Given the description of an element on the screen output the (x, y) to click on. 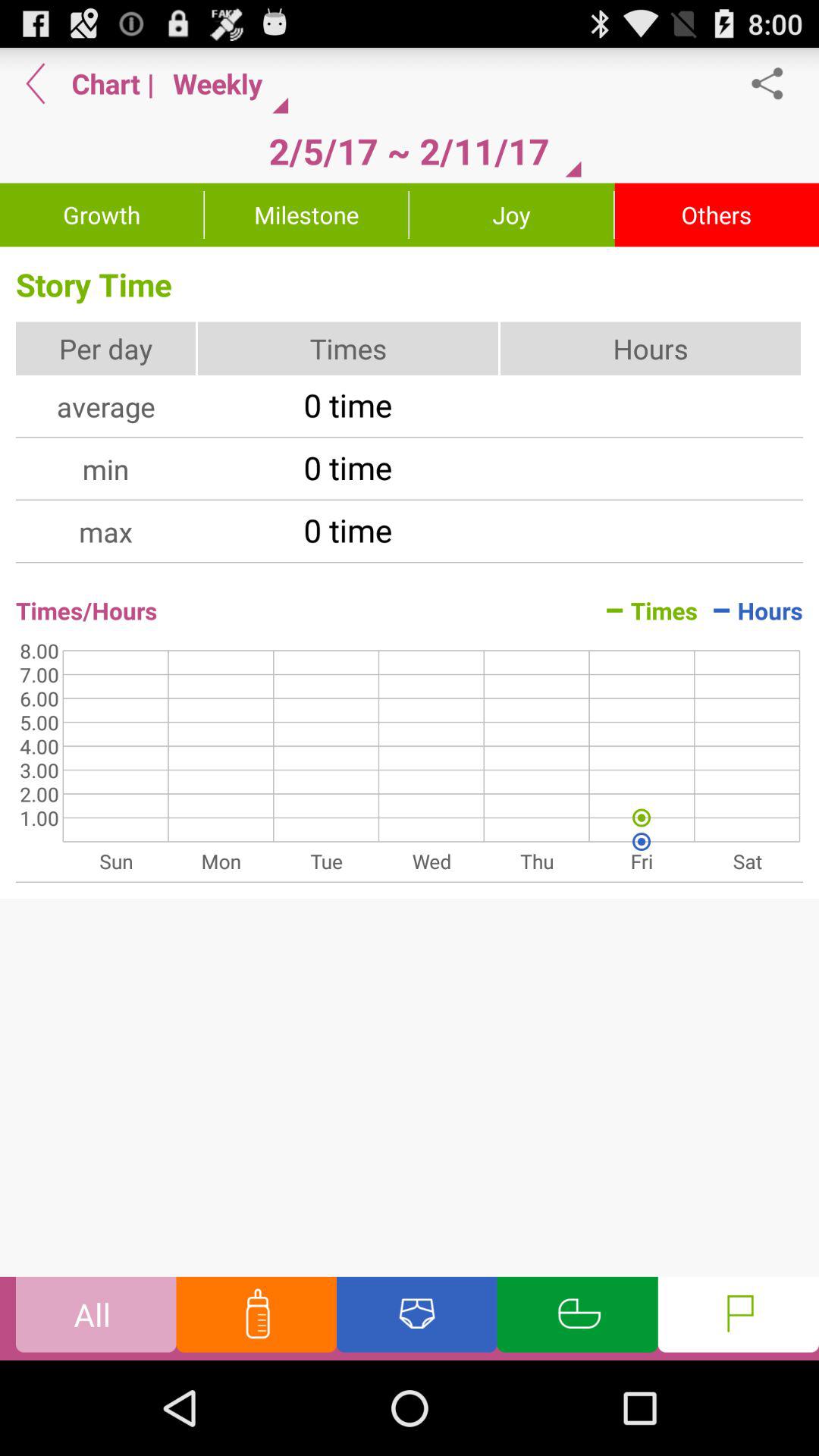
share (775, 83)
